Given the description of an element on the screen output the (x, y) to click on. 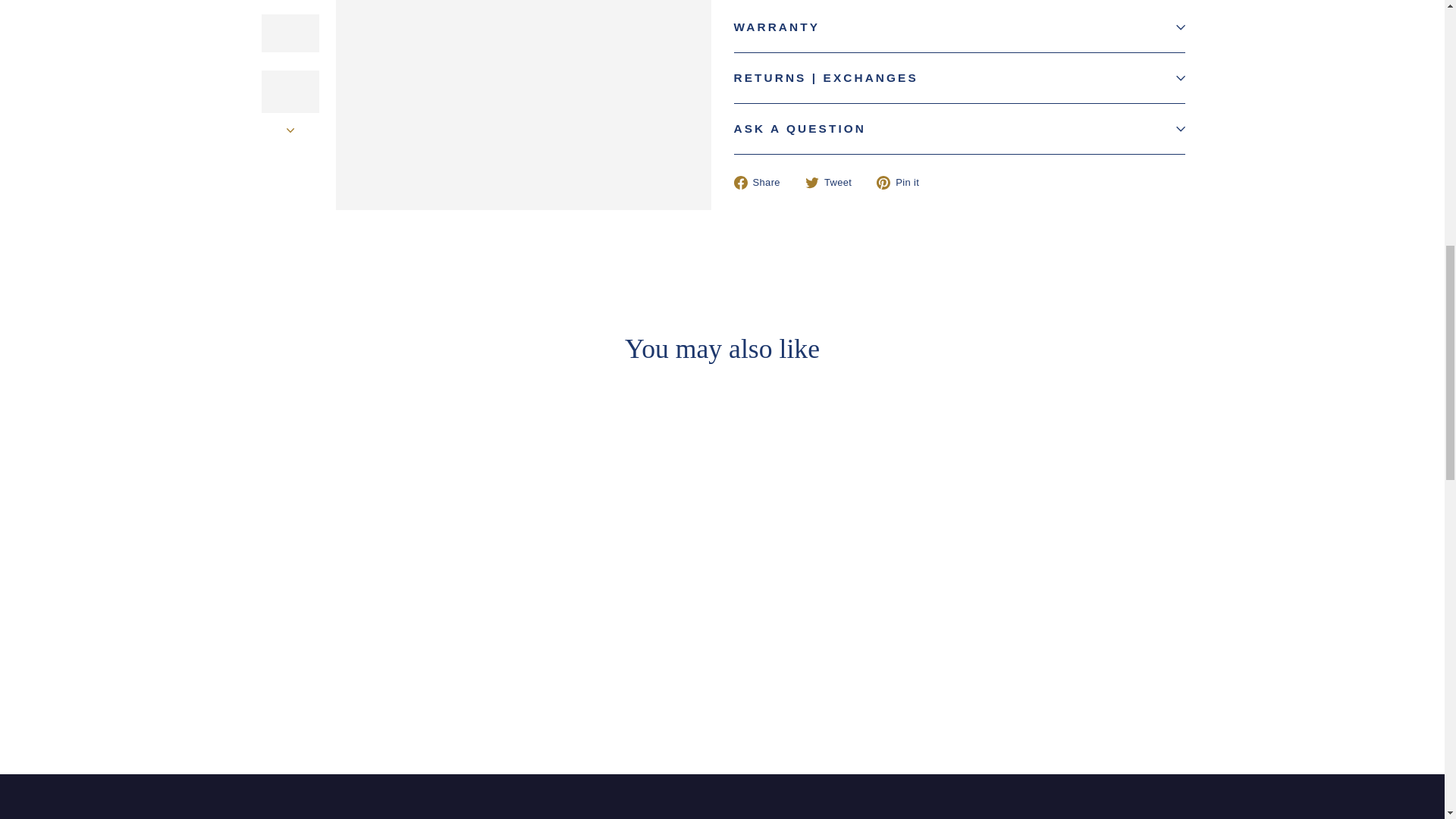
Share on Facebook (762, 182)
Pin on Pinterest (903, 182)
Tweet on Twitter (834, 182)
